Given the description of an element on the screen output the (x, y) to click on. 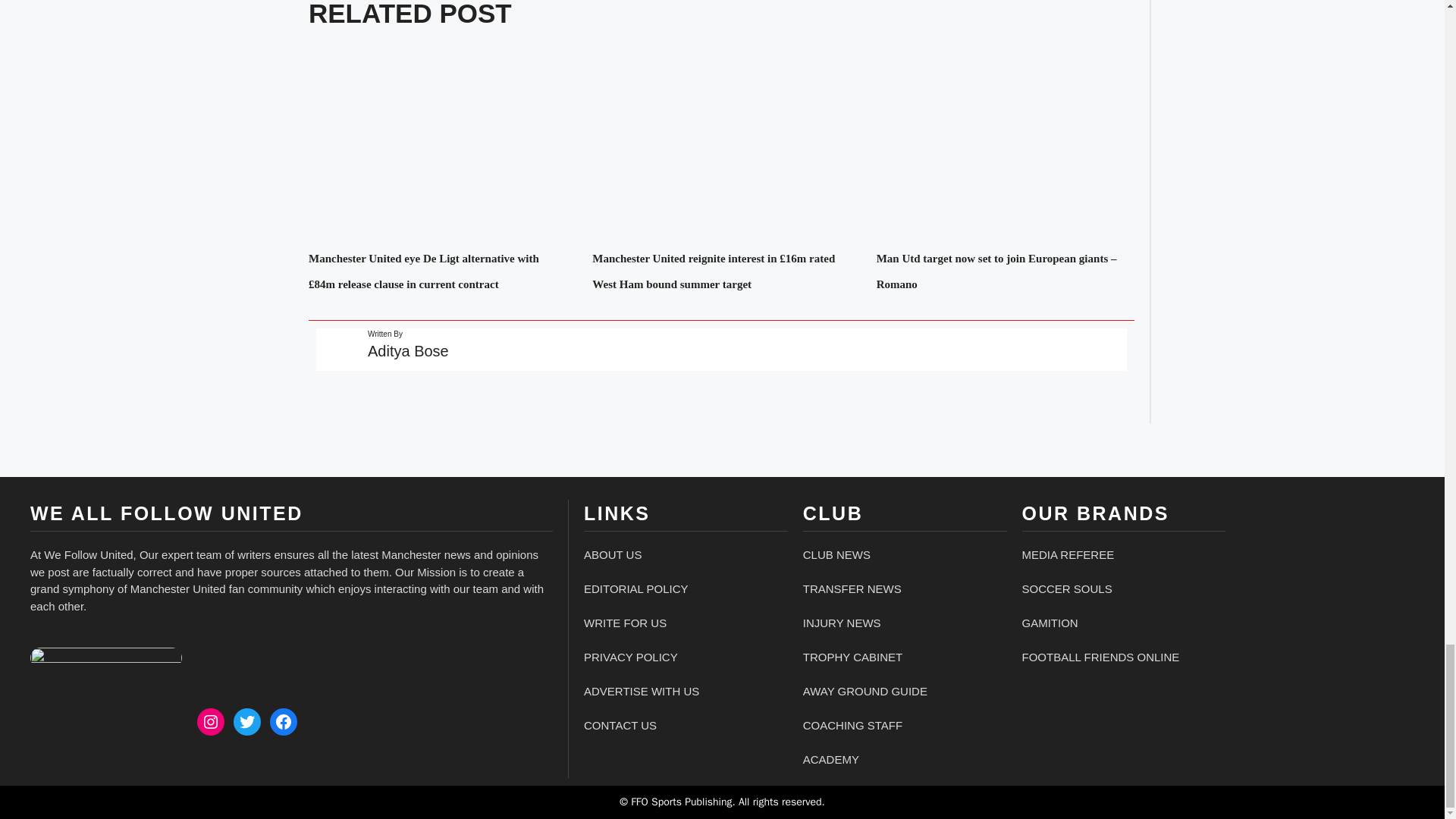
photo1715849582-1 (106, 658)
